Given the description of an element on the screen output the (x, y) to click on. 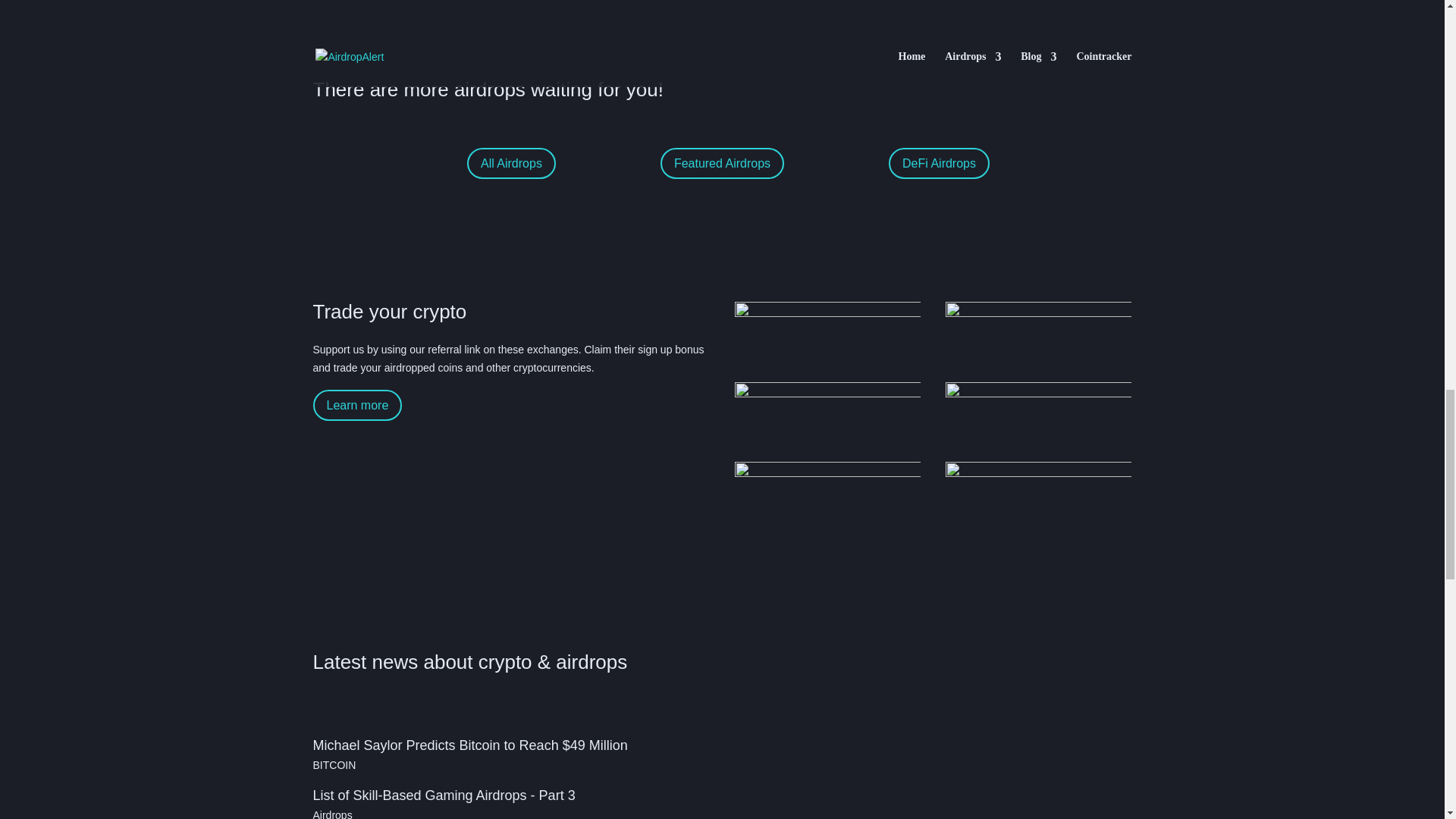
mexc-logo-airdropalert (1038, 495)
prime-xbt-logo-airdropalert (1038, 415)
AA-logos-exchanges-kucoin (828, 415)
Airdropalert-Binance-logo (1038, 335)
AA-logos-aevo (828, 495)
airdropalert-bybit-logo (828, 335)
